Given the description of an element on the screen output the (x, y) to click on. 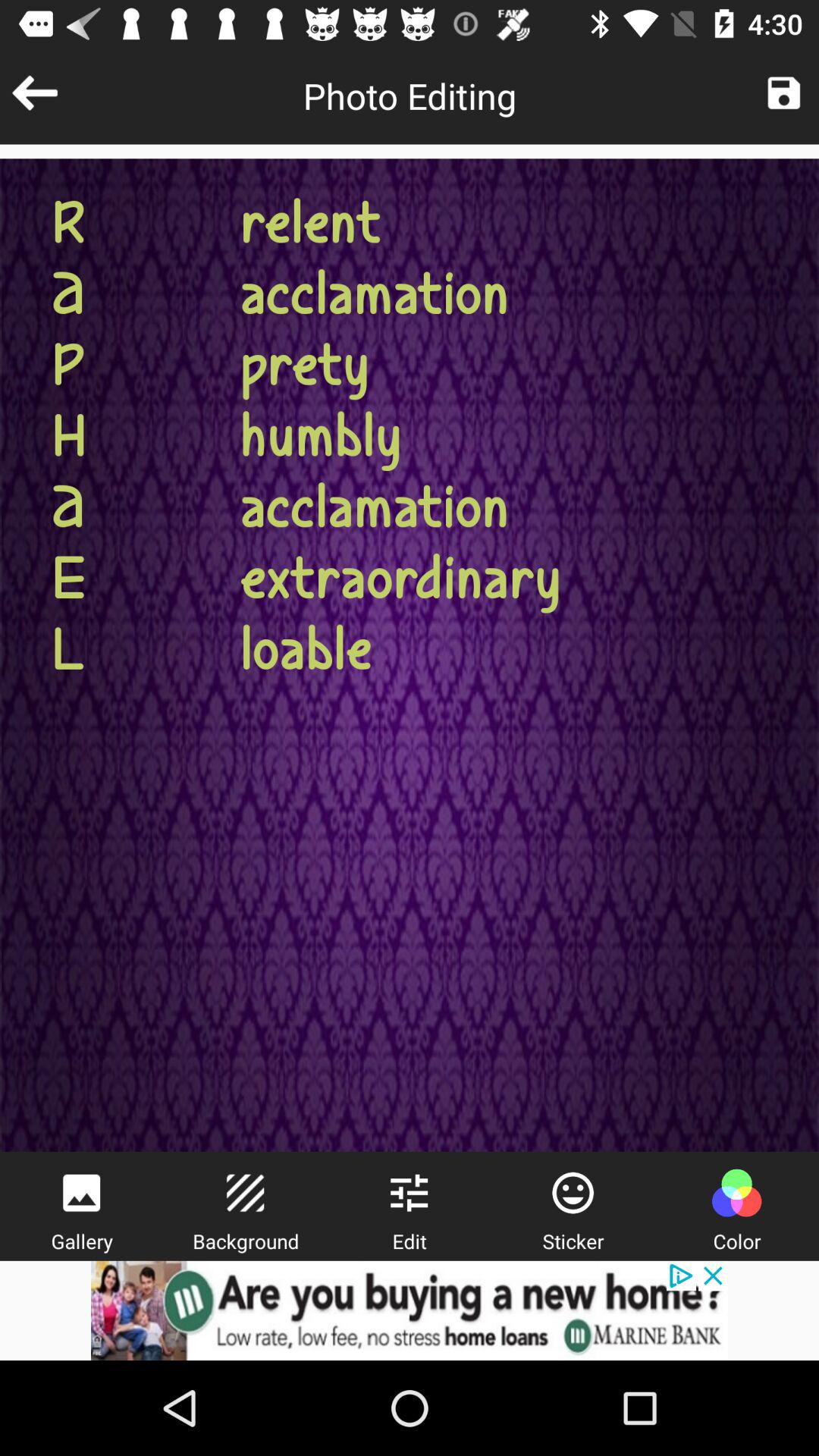
save (784, 92)
